Given the description of an element on the screen output the (x, y) to click on. 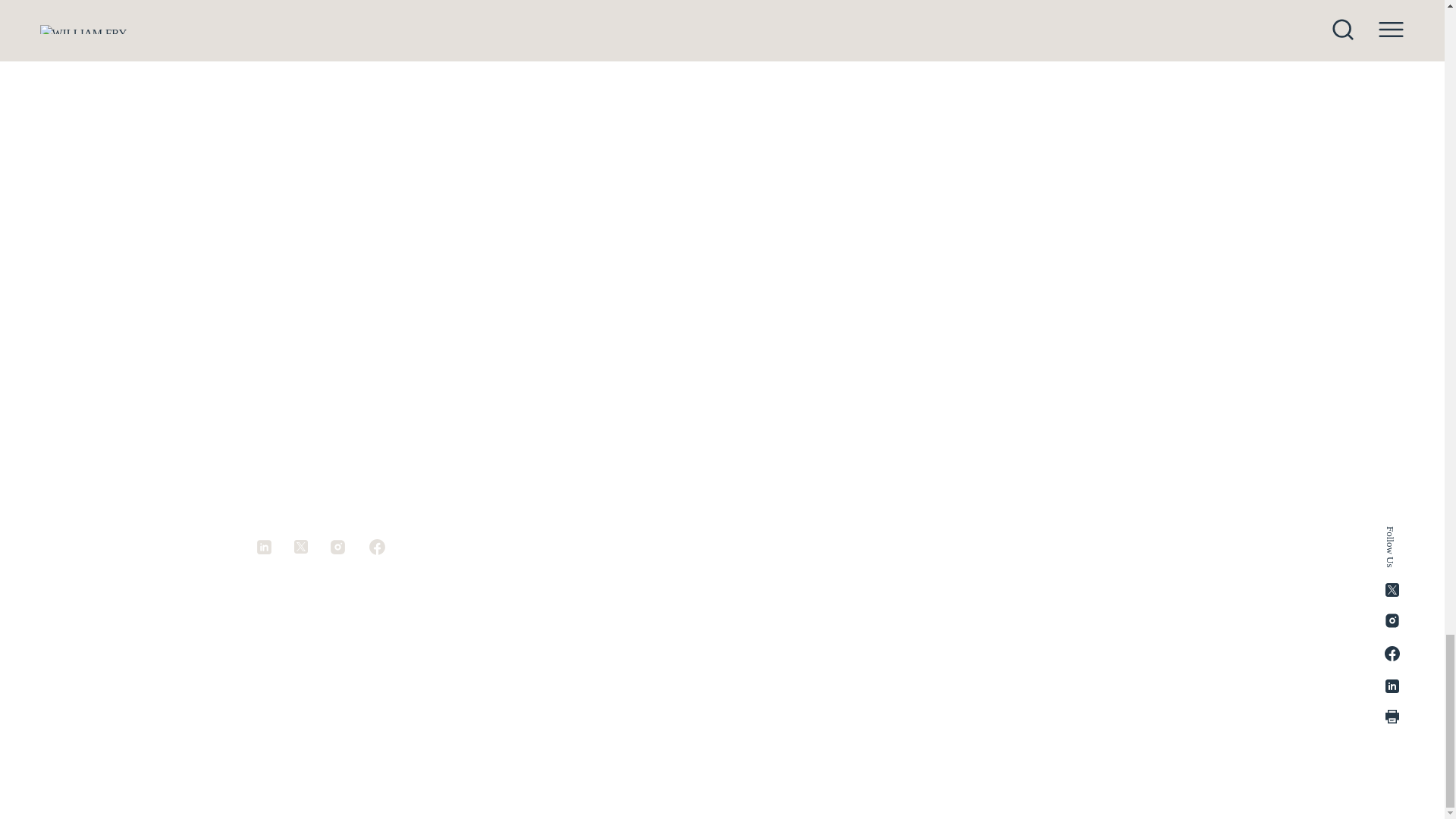
linkedin (274, 546)
instagram (346, 546)
twitter (311, 546)
facebook (375, 546)
